Given the description of an element on the screen output the (x, y) to click on. 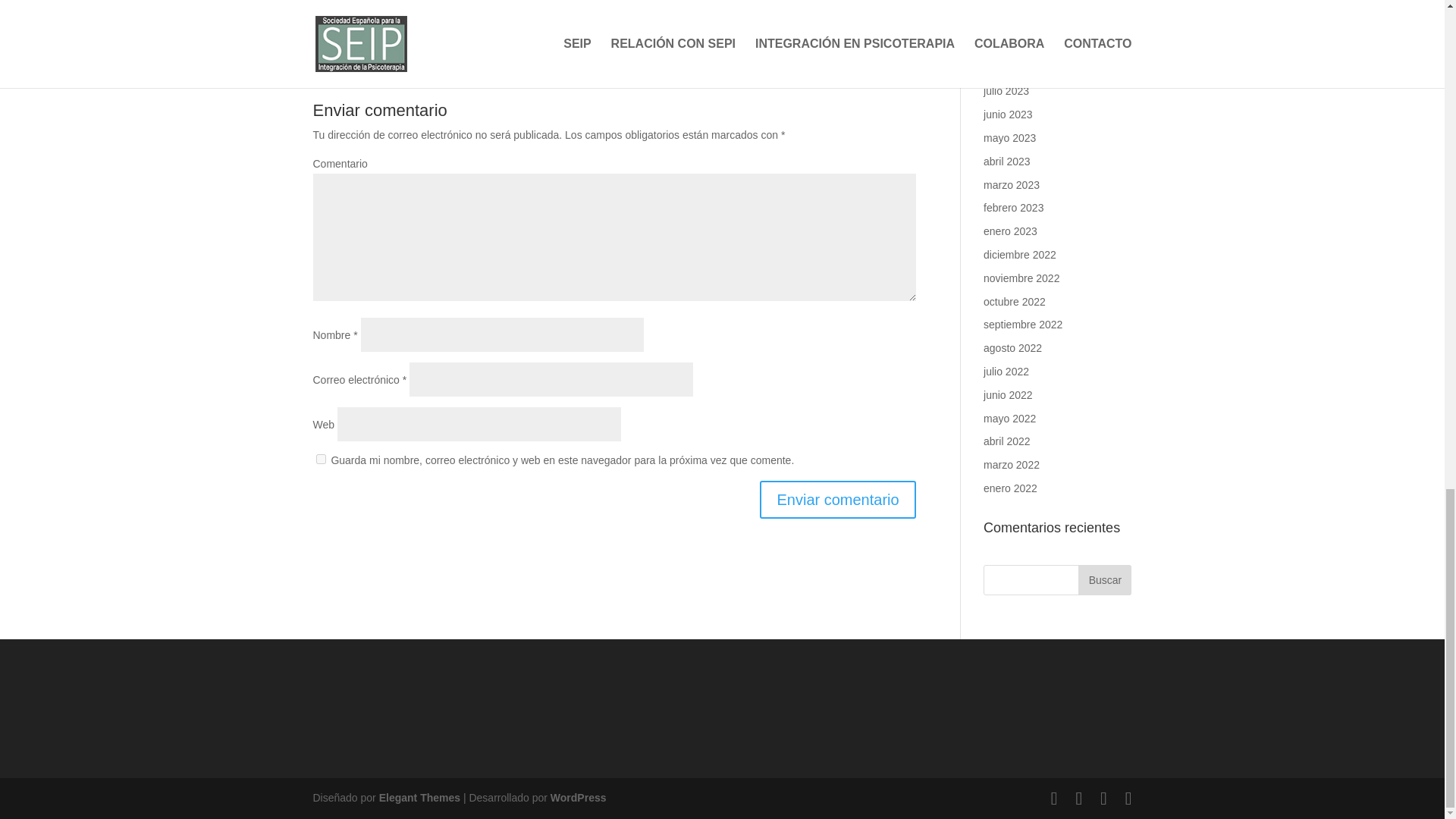
Premium WordPress Themes (419, 797)
Enviar comentario (837, 499)
Buscar (1104, 580)
Enviar comentario (837, 499)
yes (319, 459)
